Given the description of an element on the screen output the (x, y) to click on. 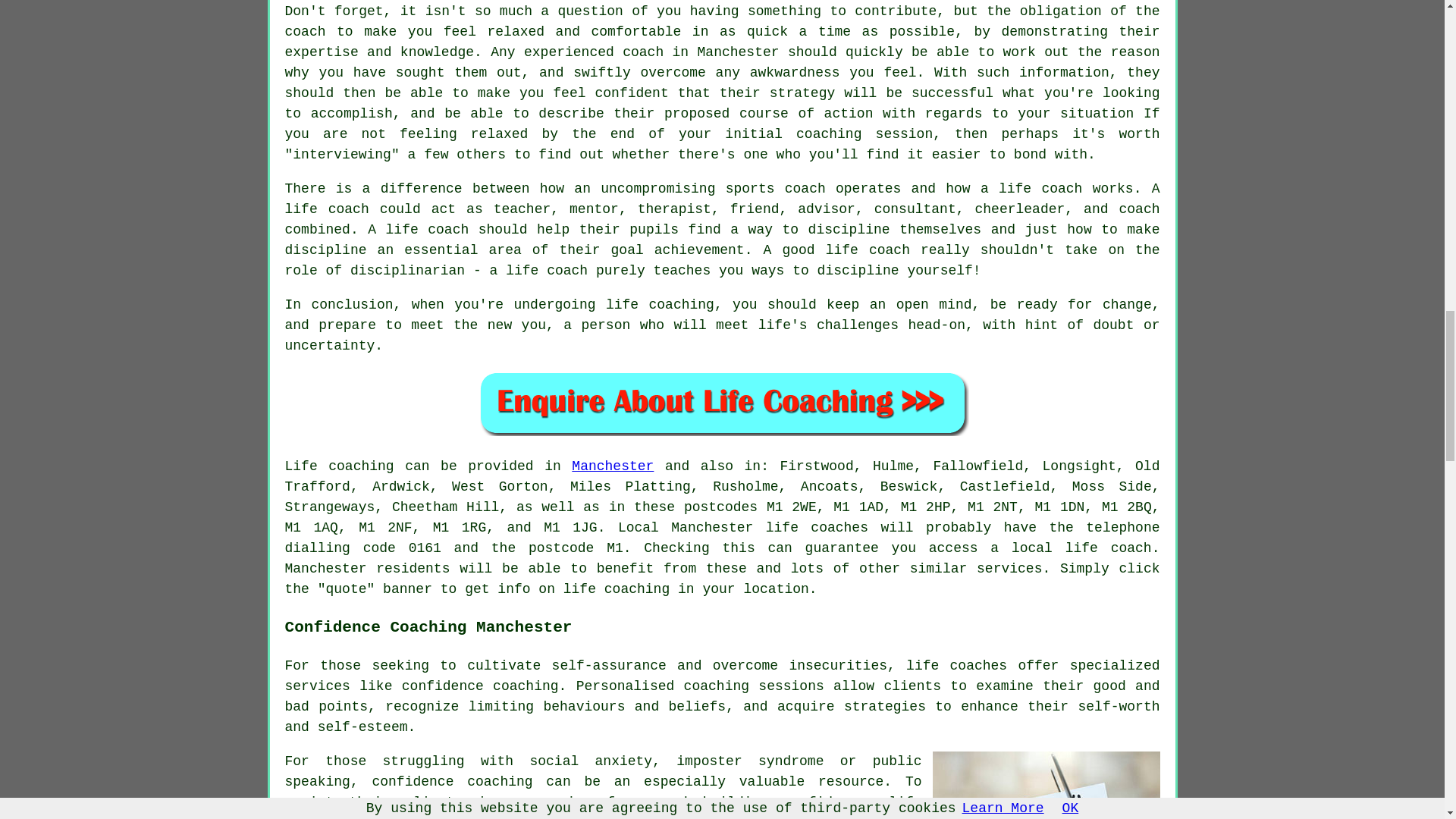
Life coaching (339, 466)
confidence coaching (480, 685)
Book a Life Coach in Manchester UK (722, 402)
life coach (1108, 548)
life coaching (616, 589)
Confidence Coaching Manchester (1046, 785)
